Given the description of an element on the screen output the (x, y) to click on. 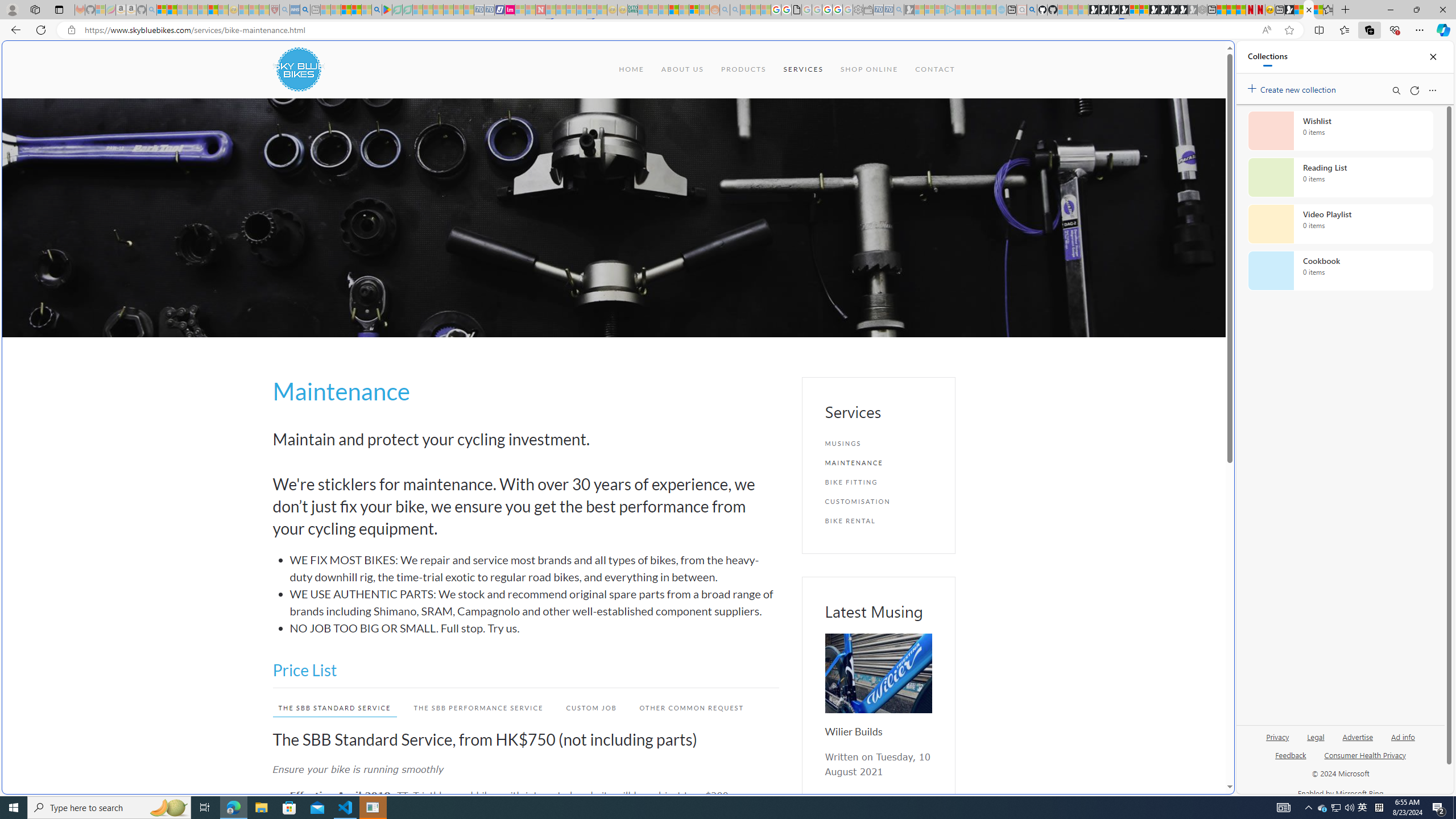
App bar (728, 29)
github - Search (1032, 9)
Robert H. Shmerling, MD - Harvard Health - Sleeping (273, 9)
CUSTOM JOB (591, 707)
New tab (727, 683)
CONTACT (935, 68)
PRODUCTS (742, 68)
Home | Sky Blue Bikes - Sky Blue Bikes - Sleeping (1001, 9)
CUSTOMISATION (878, 501)
Back (13, 29)
OTHER COMMON REQUEST (691, 707)
